Given the description of an element on the screen output the (x, y) to click on. 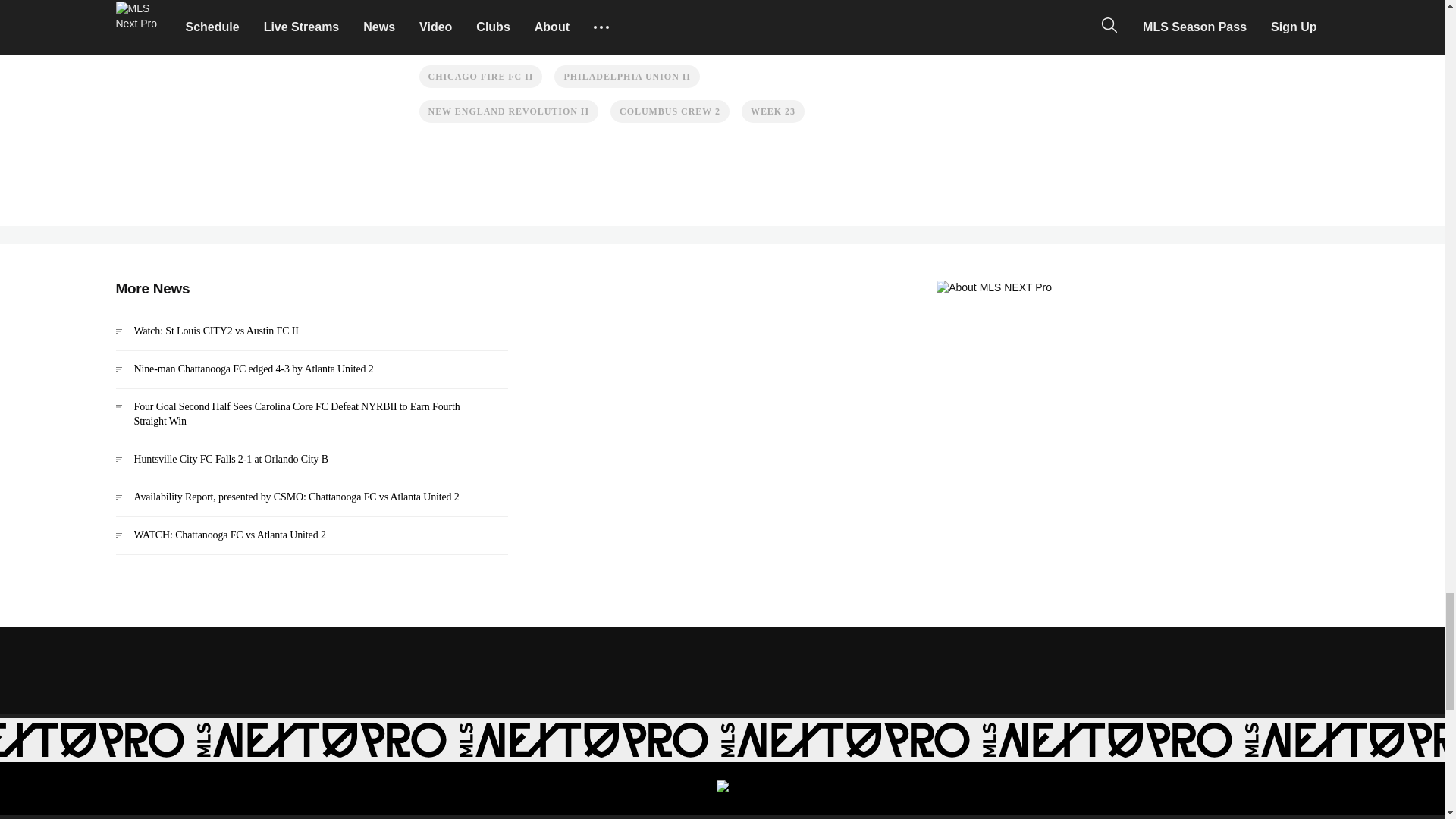
Nine-man Chattanooga FC edged 4-3 by Atlanta United 2 (310, 375)
WATCH: Chattanooga FC vs Atlanta United 2 (310, 541)
Huntsville City FC Falls 2-1 at Orlando City B (310, 465)
Watch: St Louis CITY2 vs Austin FC II (310, 337)
